Given the description of an element on the screen output the (x, y) to click on. 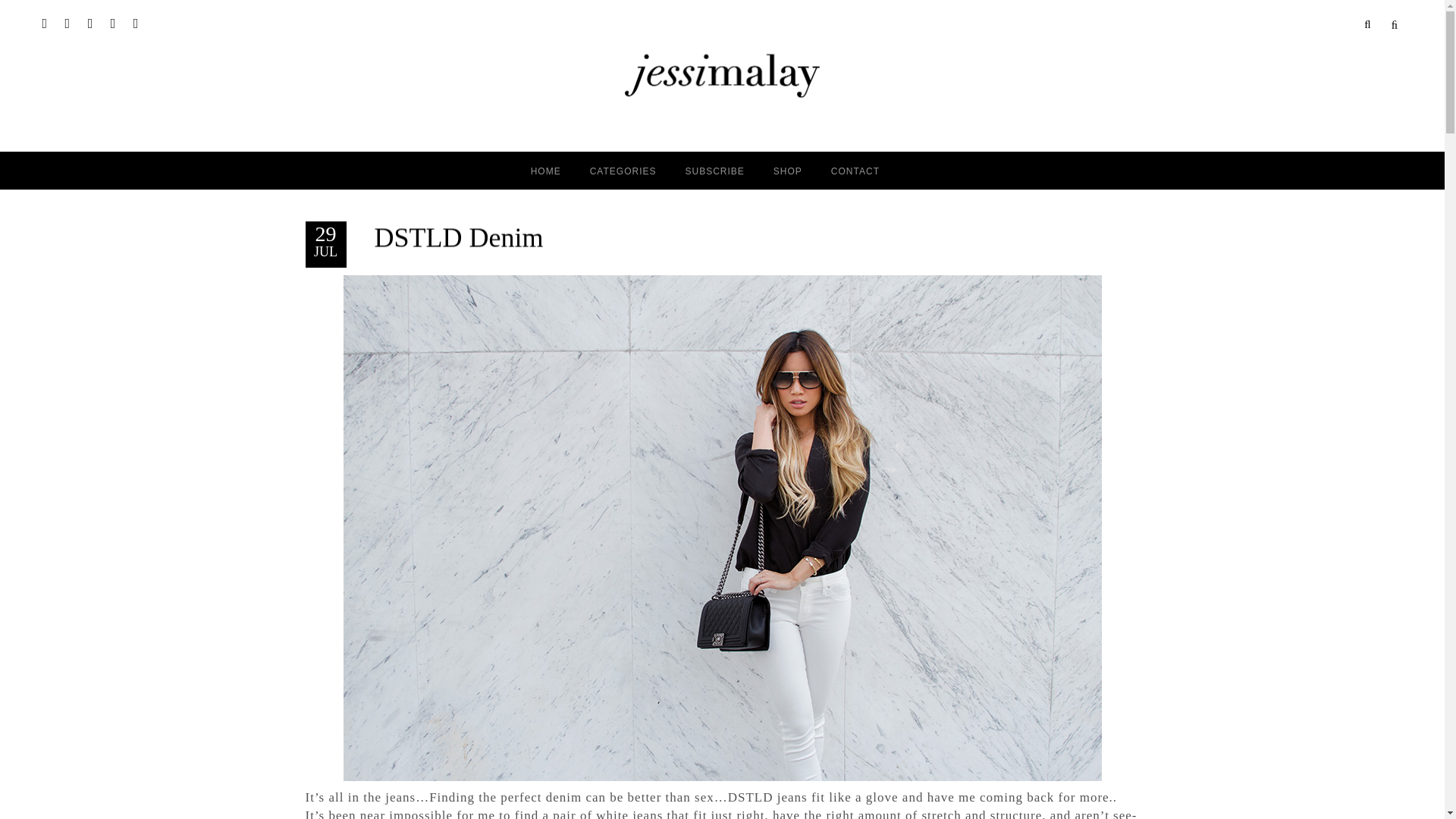
CONTACT (854, 170)
DSTLD Denim (458, 236)
HOME (545, 170)
CATEGORIES (623, 170)
SHOP (787, 170)
SUBSCRIBE (713, 170)
